Given the description of an element on the screen output the (x, y) to click on. 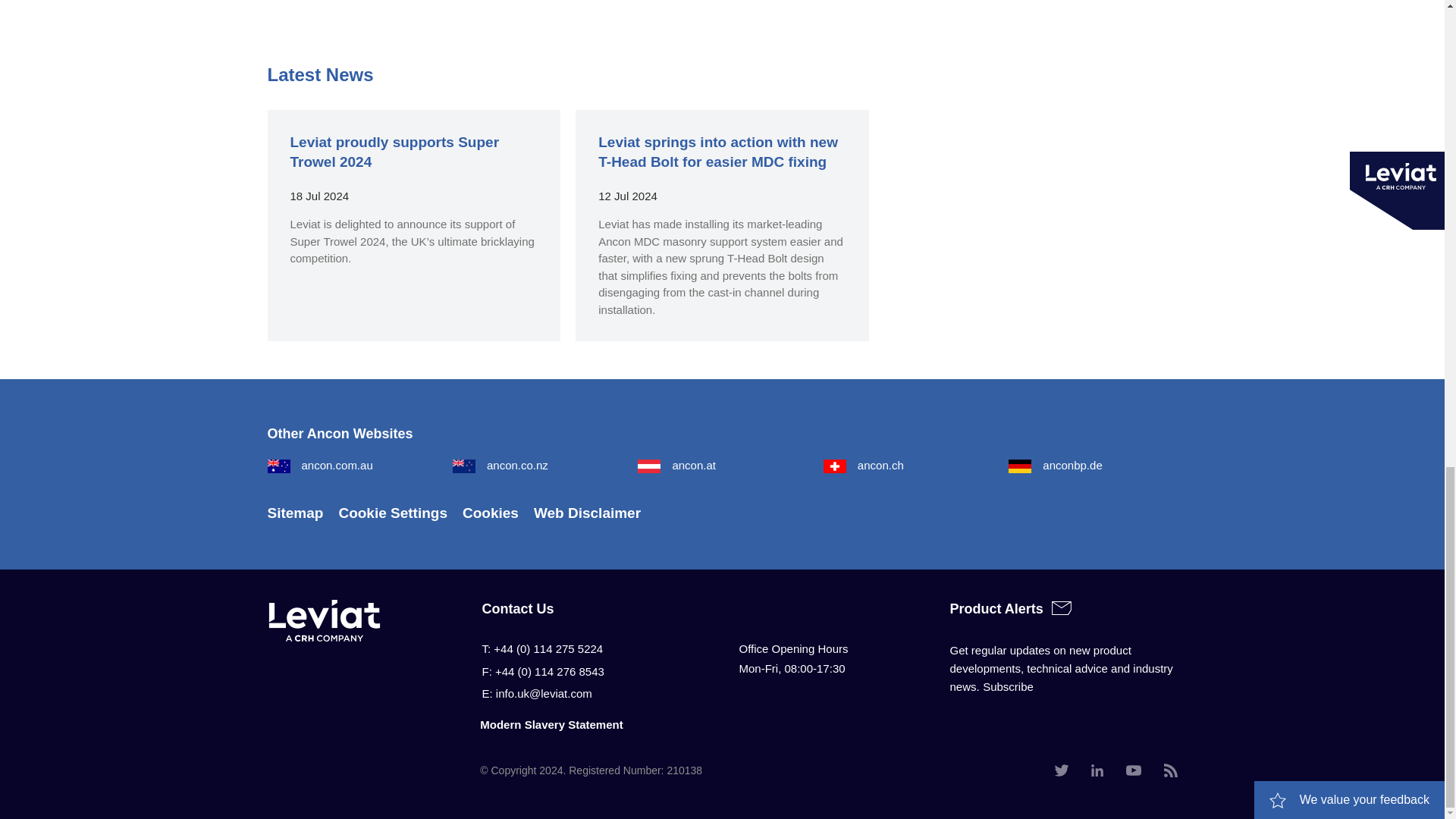
Sitemap (294, 512)
ancon.co.nz (500, 464)
ancon.at (676, 464)
Latest News (319, 74)
Cookie Settings (391, 512)
Cookies (490, 512)
Web Disclaimer (587, 512)
ancon.ch (864, 464)
ancon.com.au (319, 464)
Leviat proudly supports Super Trowel 2024 (394, 152)
anconbp.de (1055, 464)
